Given the description of an element on the screen output the (x, y) to click on. 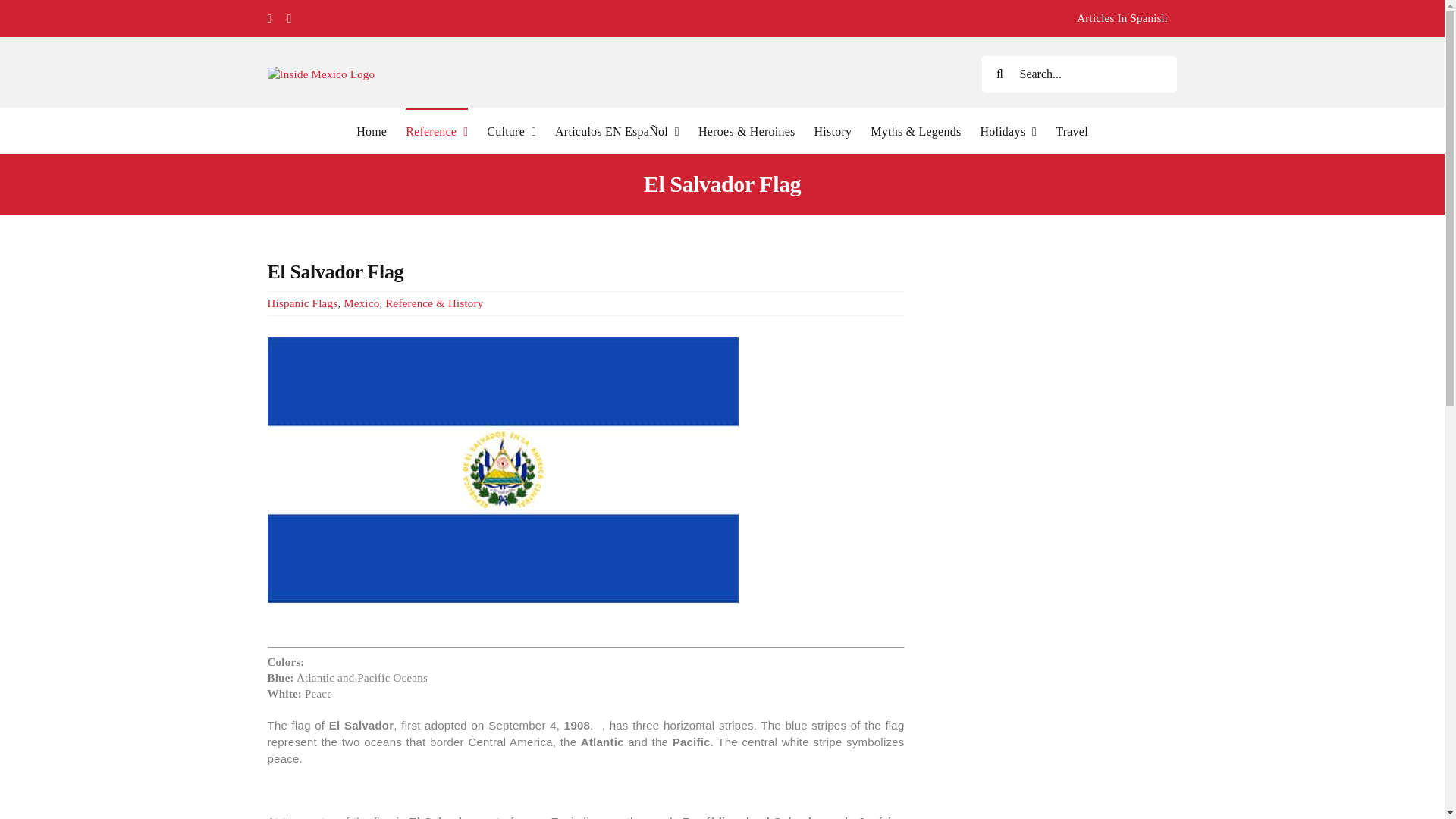
Culture (510, 130)
Twitter (289, 19)
Articles In Spanish (1121, 18)
Holidays (1007, 130)
Home (371, 130)
History (832, 130)
Facebook (268, 19)
Facebook (268, 19)
Twitter (289, 19)
Reference (436, 130)
